Given the description of an element on the screen output the (x, y) to click on. 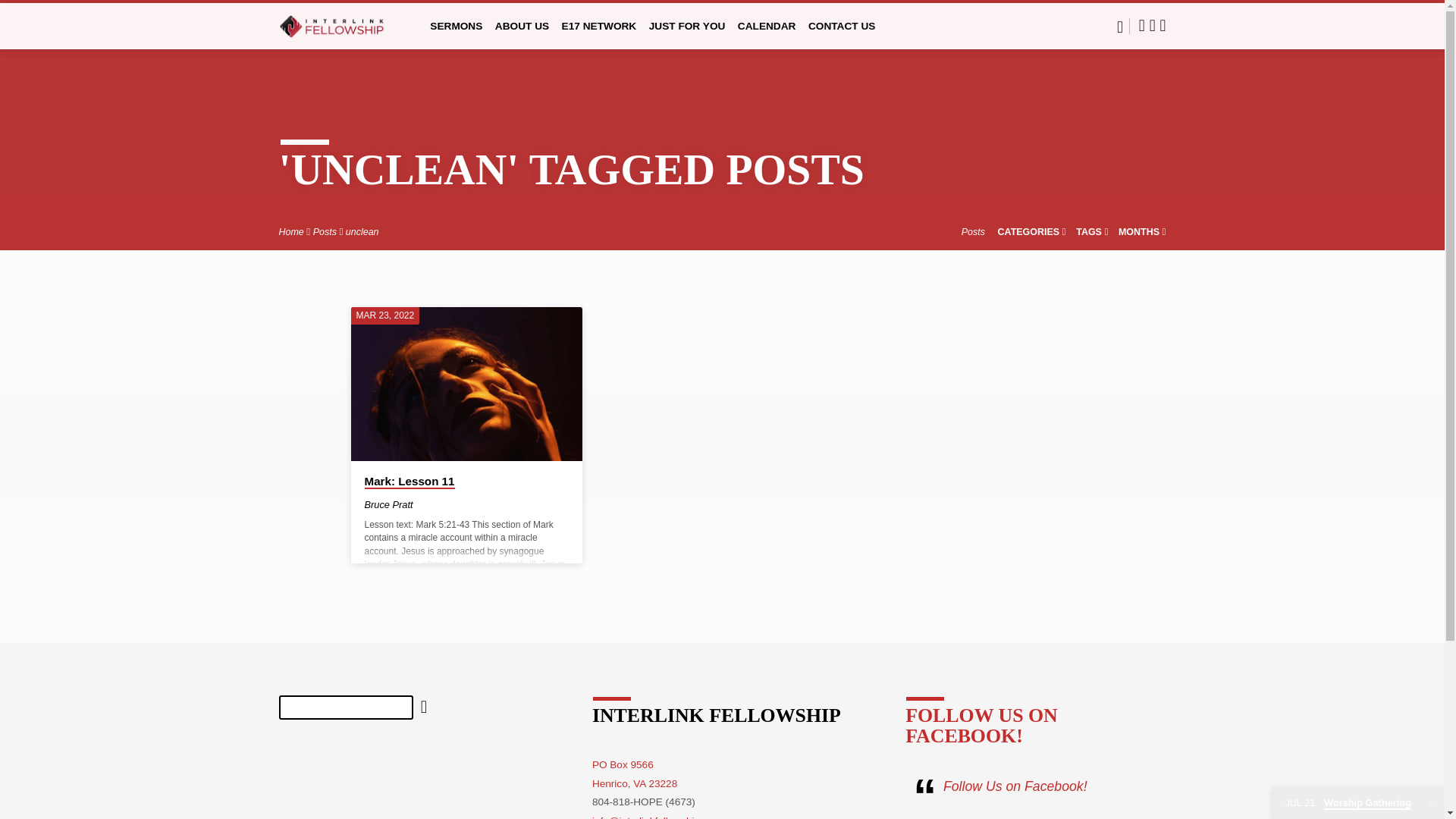
Worship Gathering (1347, 802)
Mark: Lesson 11 (465, 384)
Follow Us on Facebook! (1015, 785)
FOLLOW US ON FACEBOOK! (981, 725)
JUST FOR YOU (687, 35)
CALENDAR (767, 35)
SERMONS (455, 35)
CATEGORIES (1031, 231)
TAGS (1091, 231)
Home (291, 231)
Posts (324, 231)
MONTHS (1142, 231)
CONTACT US (842, 35)
Bruce Pratt (388, 504)
E17 NETWORK (599, 35)
